Given the description of an element on the screen output the (x, y) to click on. 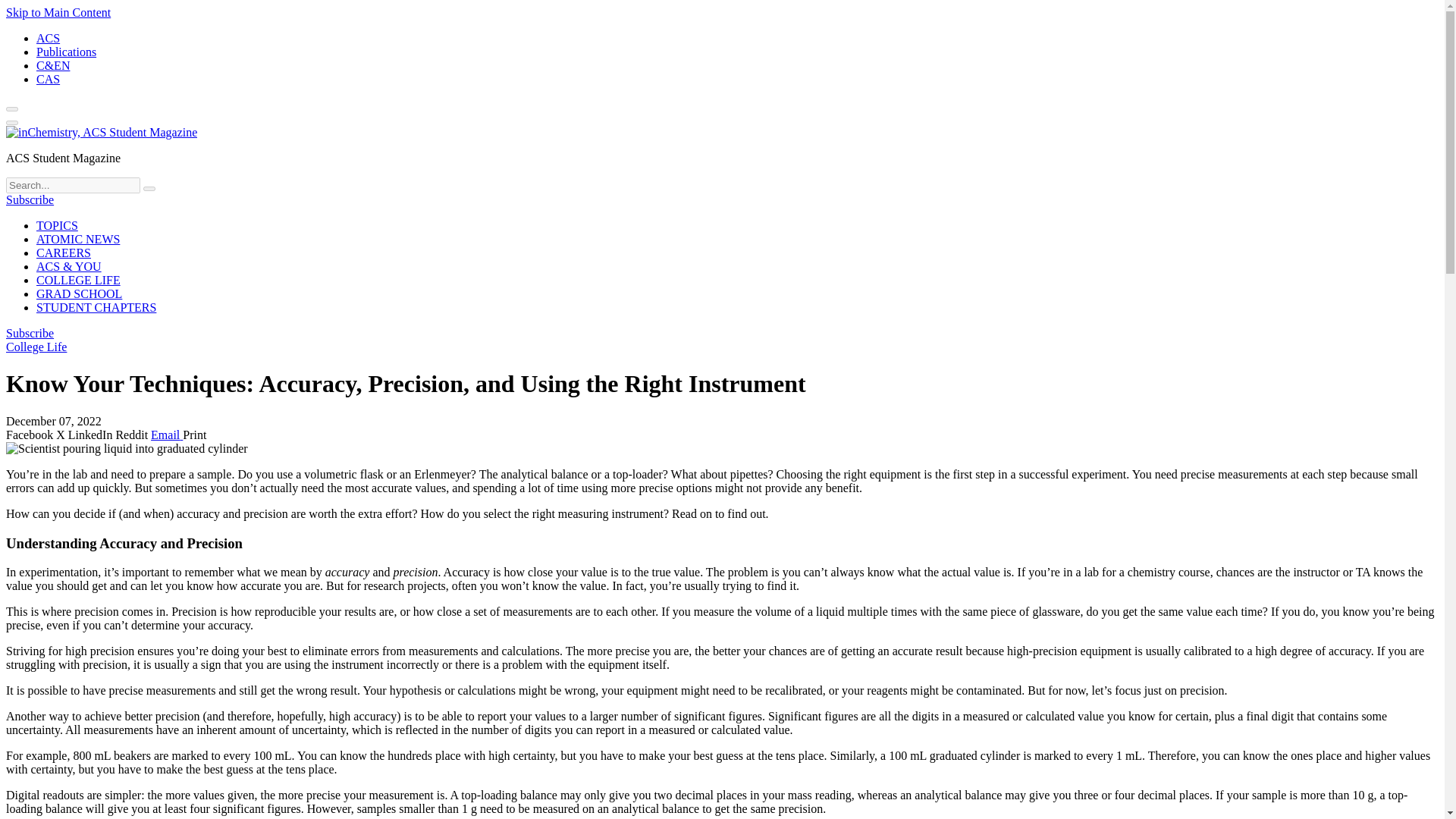
College Life (35, 346)
ATOMIC NEWS (77, 238)
GRAD SCHOOL (79, 293)
Subscribe (29, 199)
X (62, 434)
CAREERS (63, 252)
Print (194, 434)
Print (194, 434)
Reddit (133, 434)
CAS (47, 78)
